Given the description of an element on the screen output the (x, y) to click on. 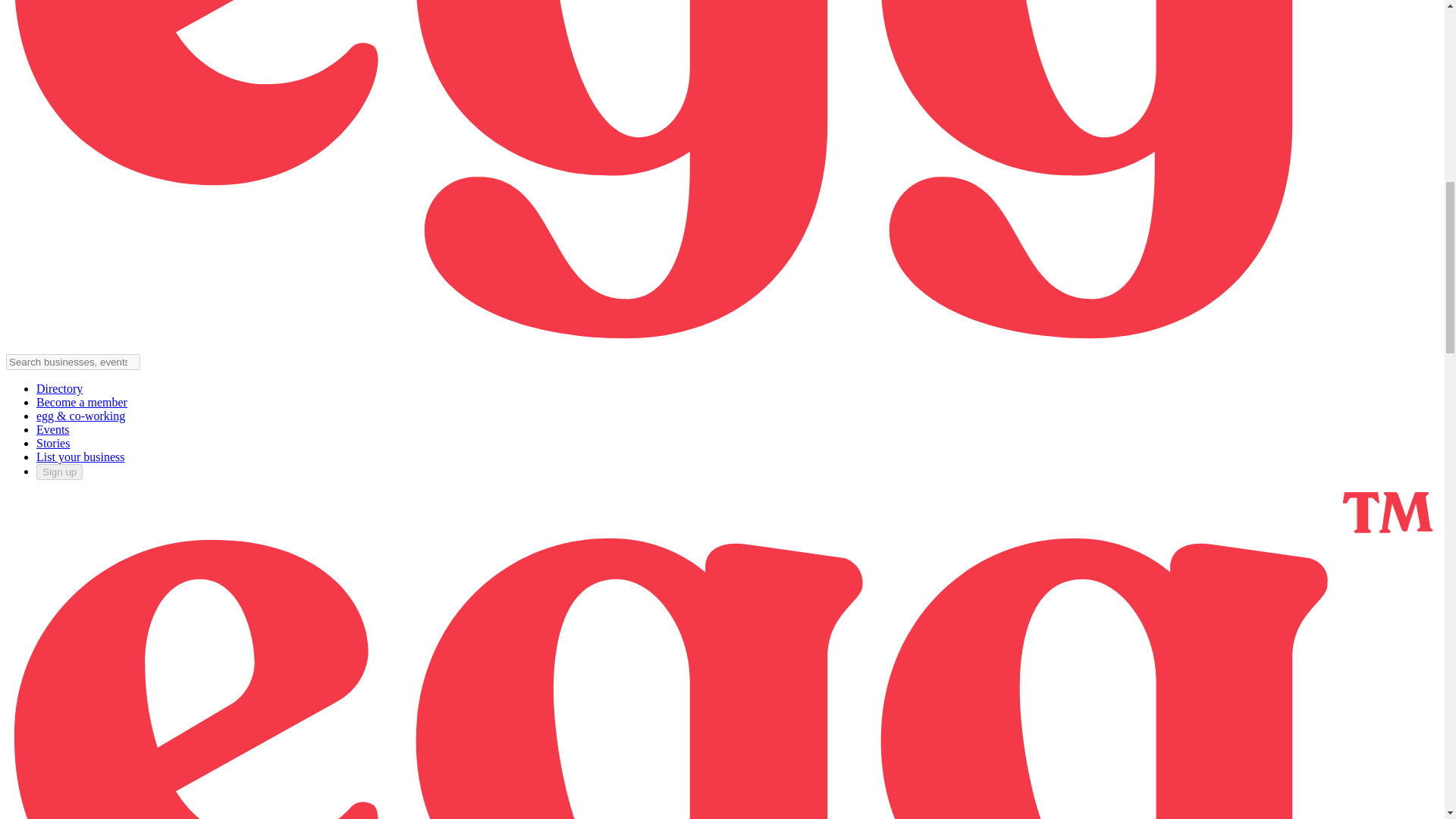
Become a member (82, 401)
Events (52, 429)
Sign up (59, 471)
Stories (52, 442)
Directory (59, 388)
List your business (79, 456)
